Given the description of an element on the screen output the (x, y) to click on. 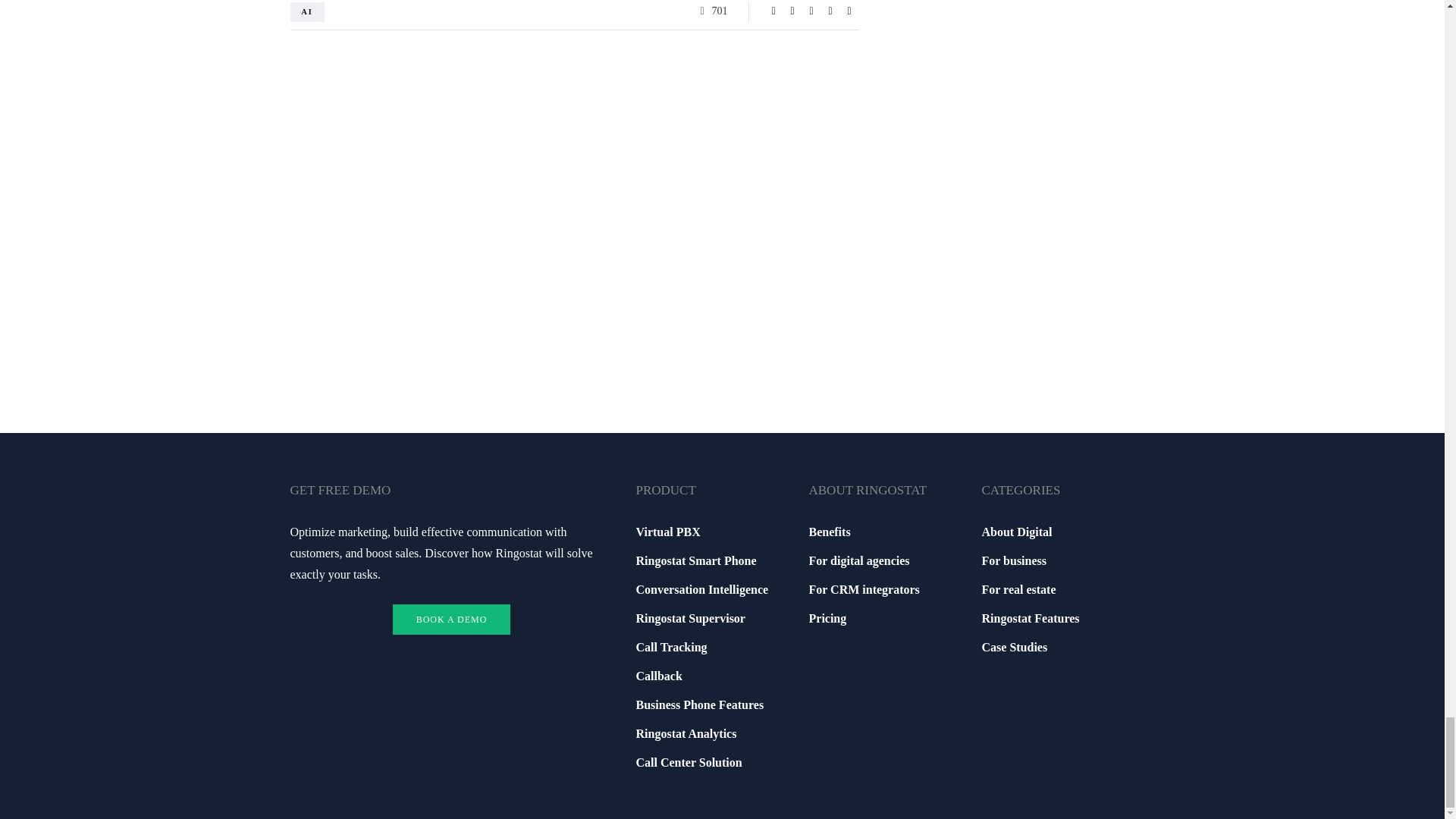
Share by Email (849, 11)
Share with LinkedIn (811, 11)
Share with Facebook (773, 11)
Tweet this (792, 11)
Share to Telegram (830, 11)
